Given the description of an element on the screen output the (x, y) to click on. 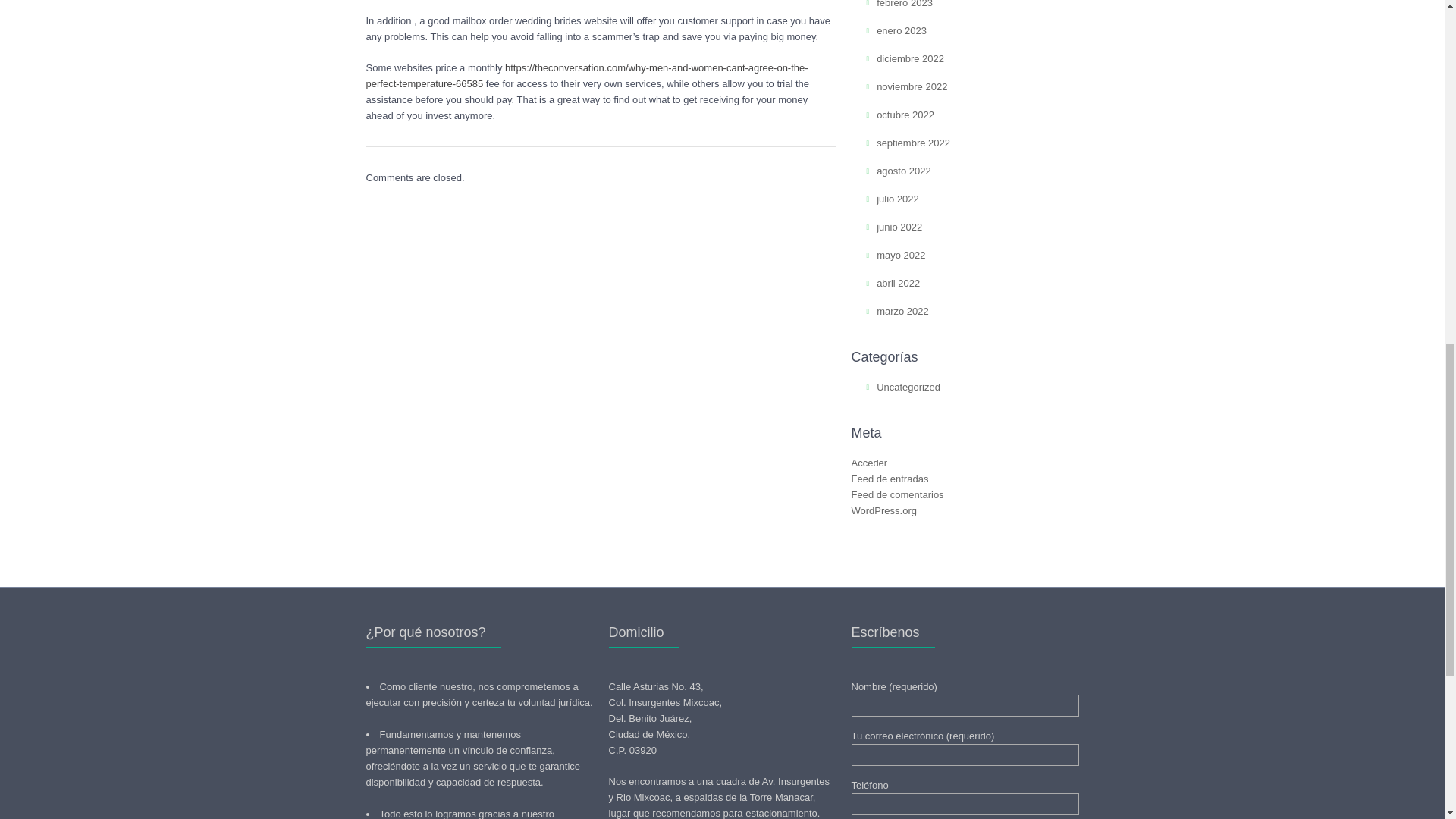
julio 2022 (897, 198)
octubre 2022 (905, 114)
noviembre 2022 (911, 86)
enero 2023 (901, 30)
septiembre 2022 (913, 142)
abril 2022 (898, 283)
agosto 2022 (903, 170)
febrero 2023 (904, 4)
mayo 2022 (900, 255)
diciembre 2022 (909, 58)
